Given the description of an element on the screen output the (x, y) to click on. 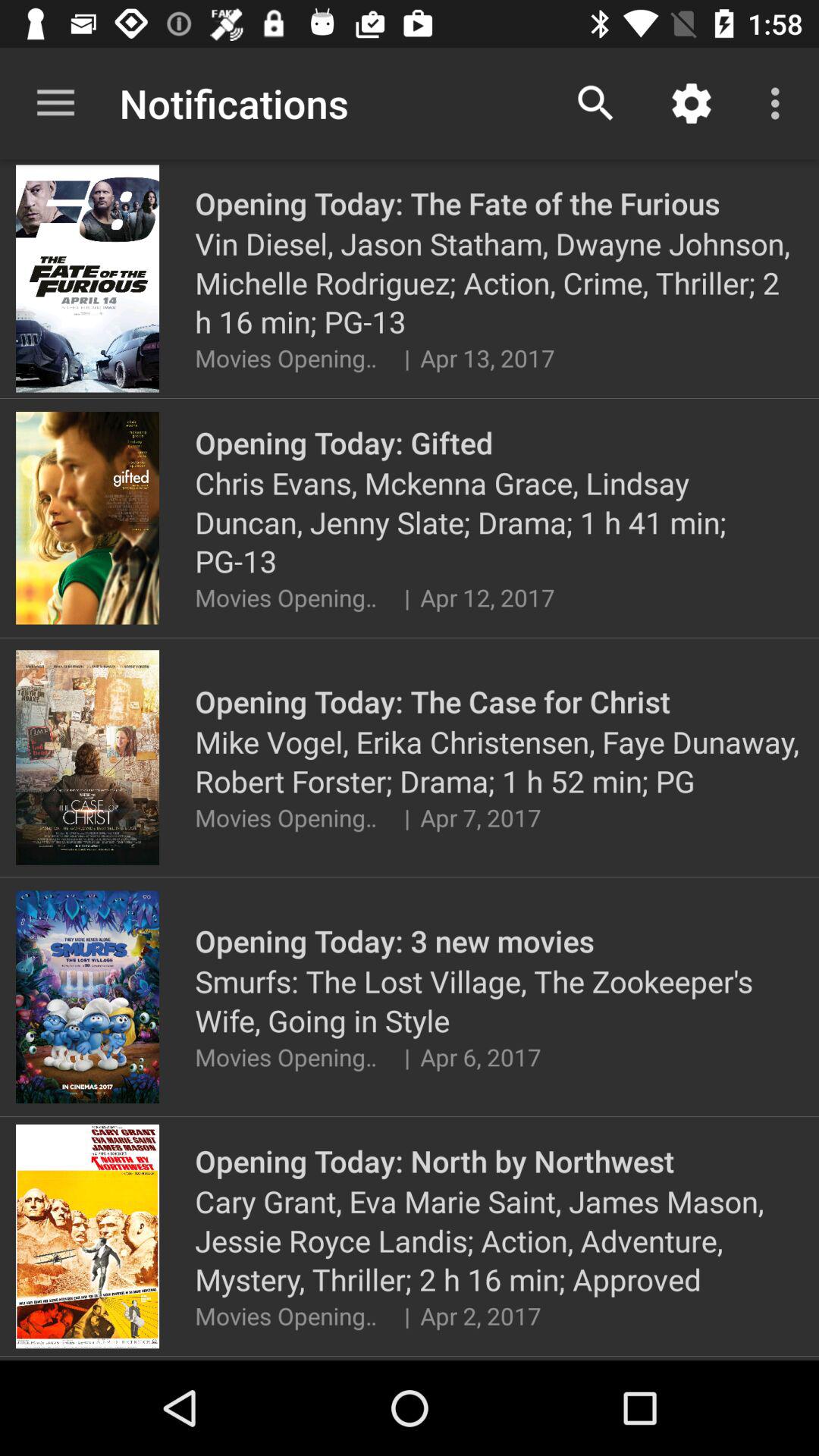
flip until | item (407, 597)
